Given the description of an element on the screen output the (x, y) to click on. 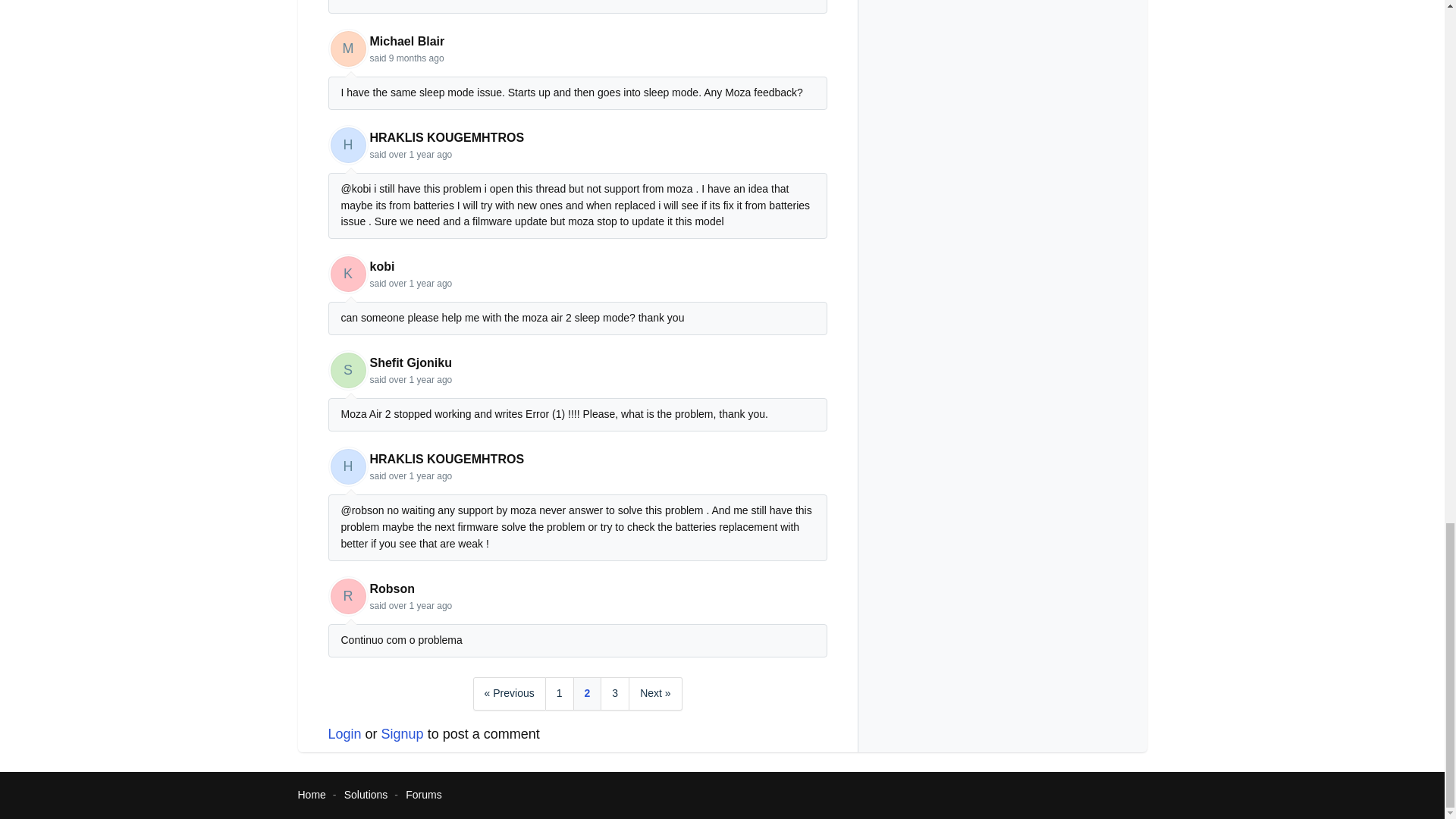
Thu, 23 Feb, 2023 at 10:45 PM (419, 379)
Login (344, 734)
Wed, 29 Nov, 2023 at 11:33 AM (416, 58)
Signup (402, 734)
Tue, 28 Mar, 2023 at 12:24 AM (419, 283)
Tue, 28 Mar, 2023 at 12:29 AM (419, 154)
